Given the description of an element on the screen output the (x, y) to click on. 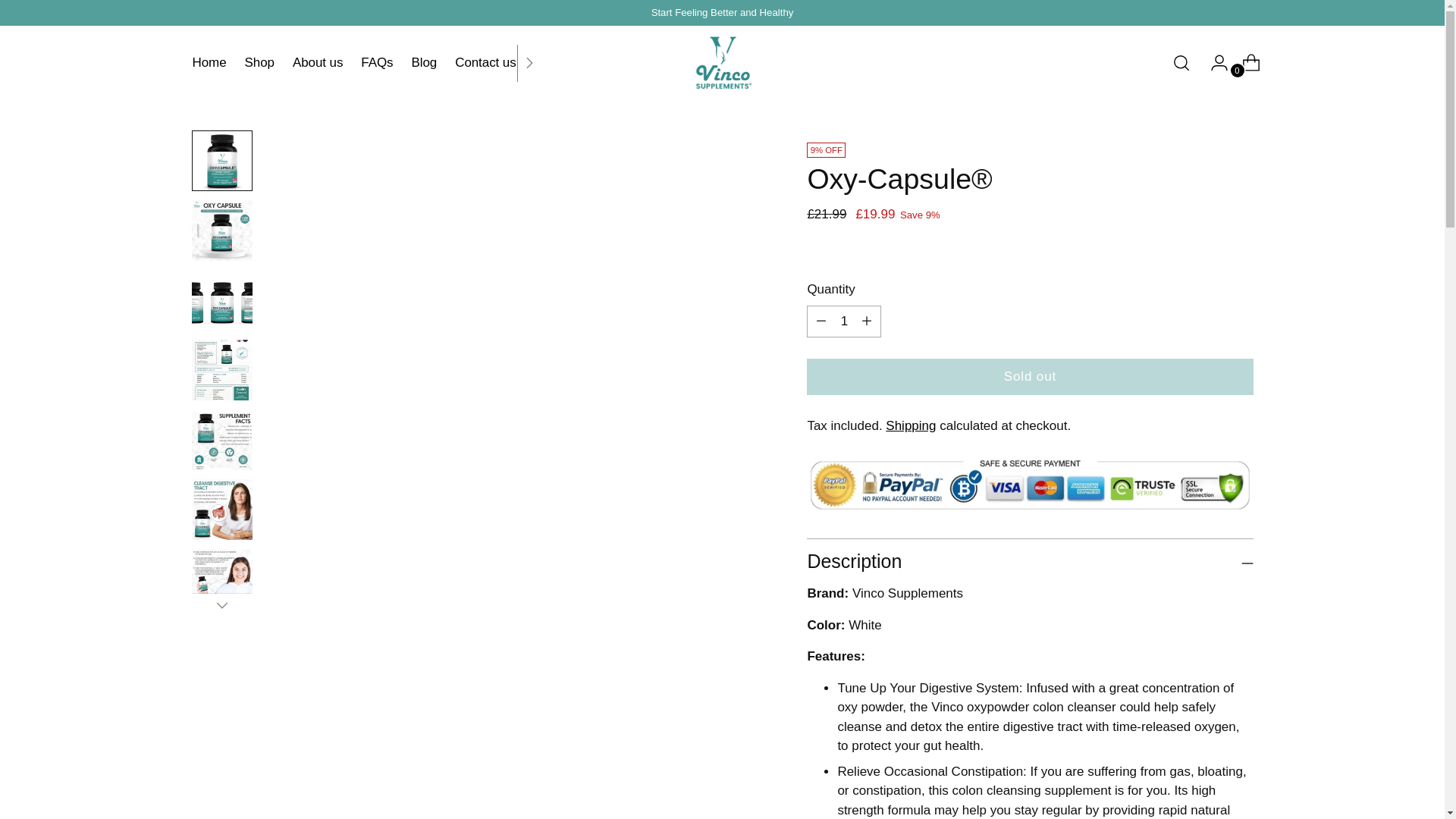
Down (220, 604)
0 (1245, 62)
1 (843, 321)
FAQs (377, 62)
About us (317, 62)
Contact us (484, 62)
Home (209, 62)
